Given the description of an element on the screen output the (x, y) to click on. 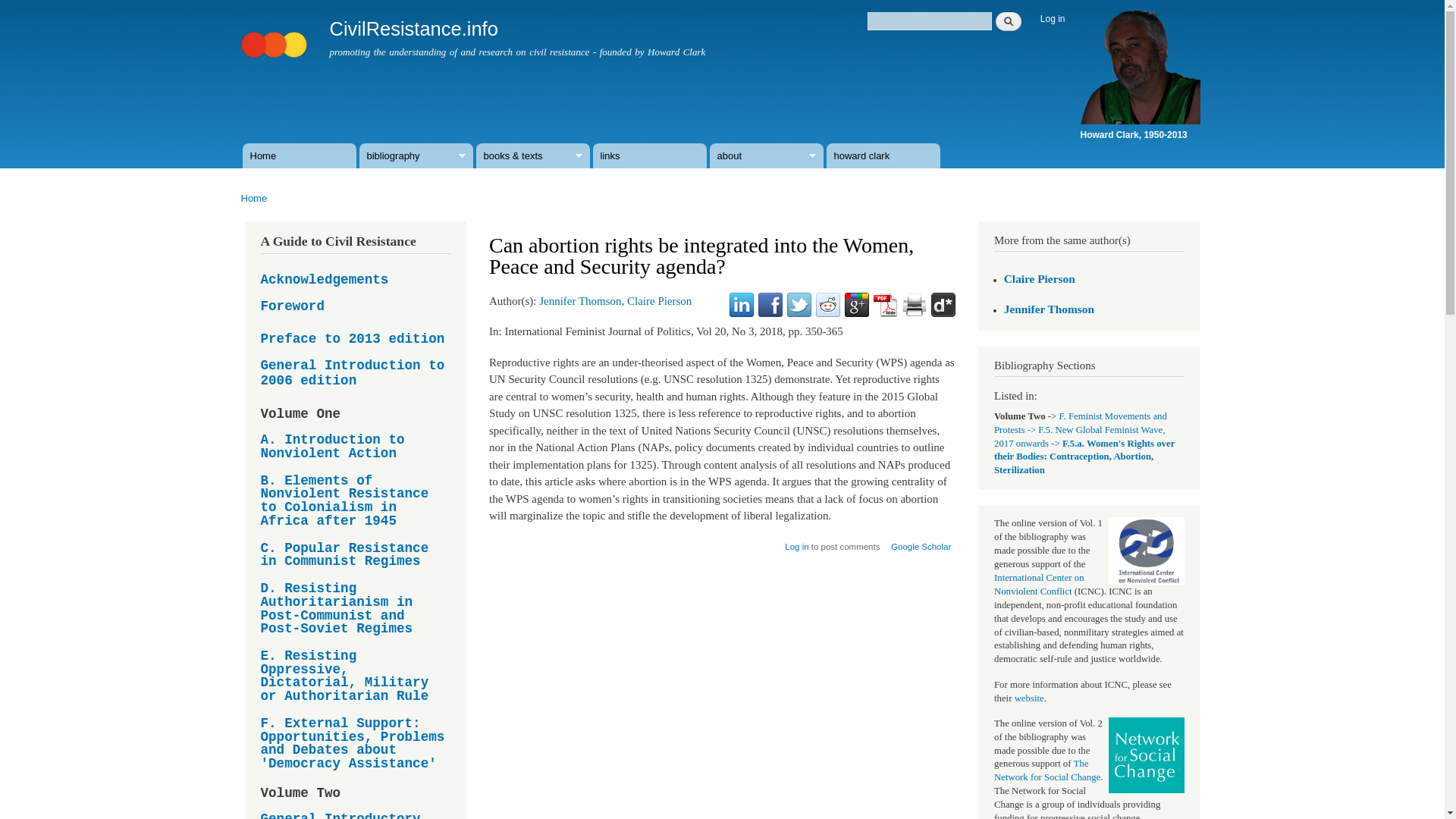
Home (254, 197)
General Introduction to 2006 edition (355, 372)
Log in (1053, 18)
Home (299, 155)
Click to search Google Scholar for this entry (920, 541)
Preface to 2013 edition (352, 339)
About CivilResistance.info (767, 155)
Jennifer Thomson (579, 300)
CivilResistance.info (413, 28)
Skip to main content (690, 1)
